Given the description of an element on the screen output the (x, y) to click on. 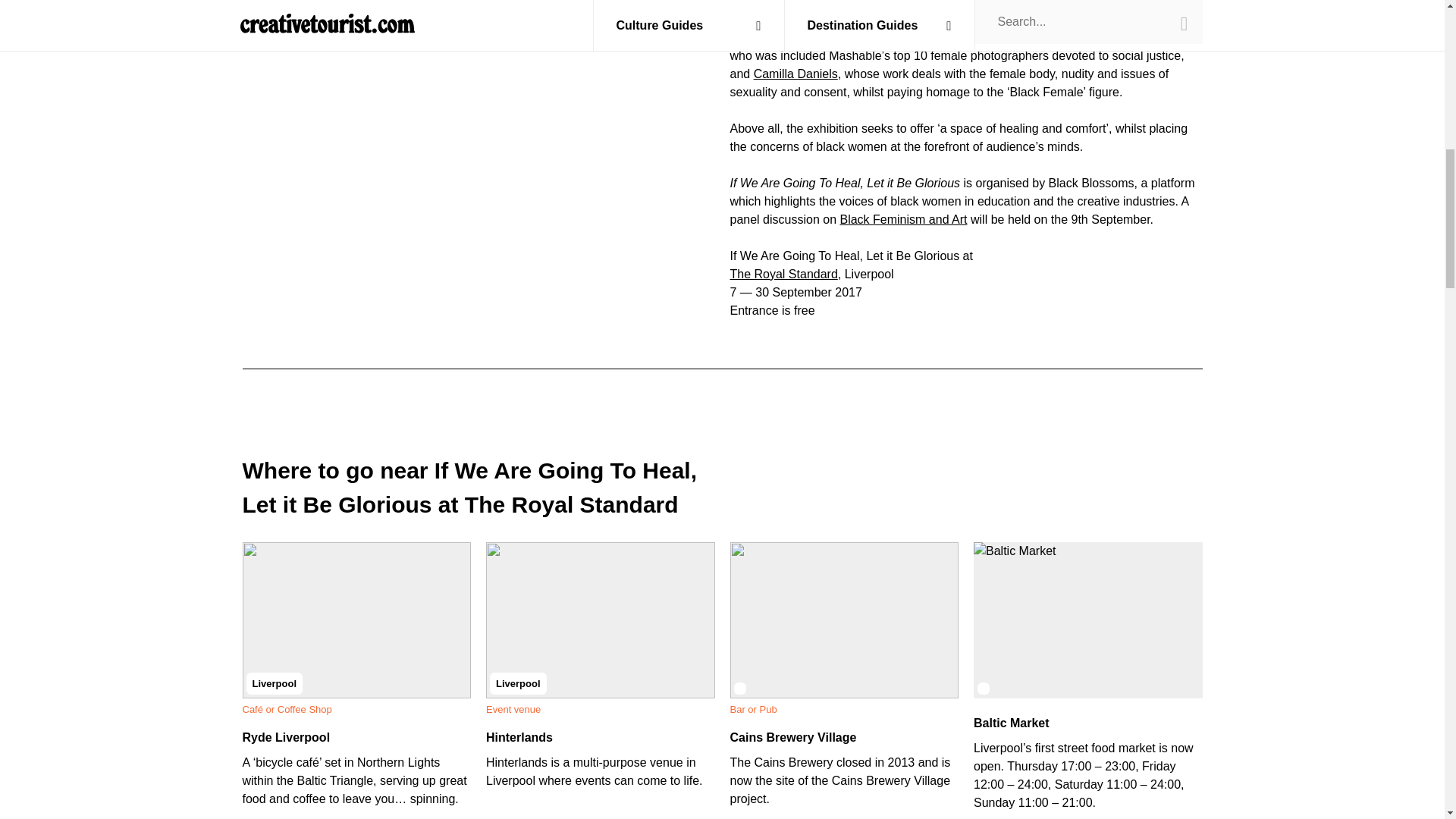
Hinterlands (519, 737)
Ryde Liverpool (286, 737)
Liverpool (600, 619)
Camilla Daniels (796, 72)
Heather Agyepong (1141, 36)
The Royal Standard (783, 273)
Cains Brewery Village (792, 737)
Black Feminism and Art (903, 218)
Liverpool (357, 619)
